Given the description of an element on the screen output the (x, y) to click on. 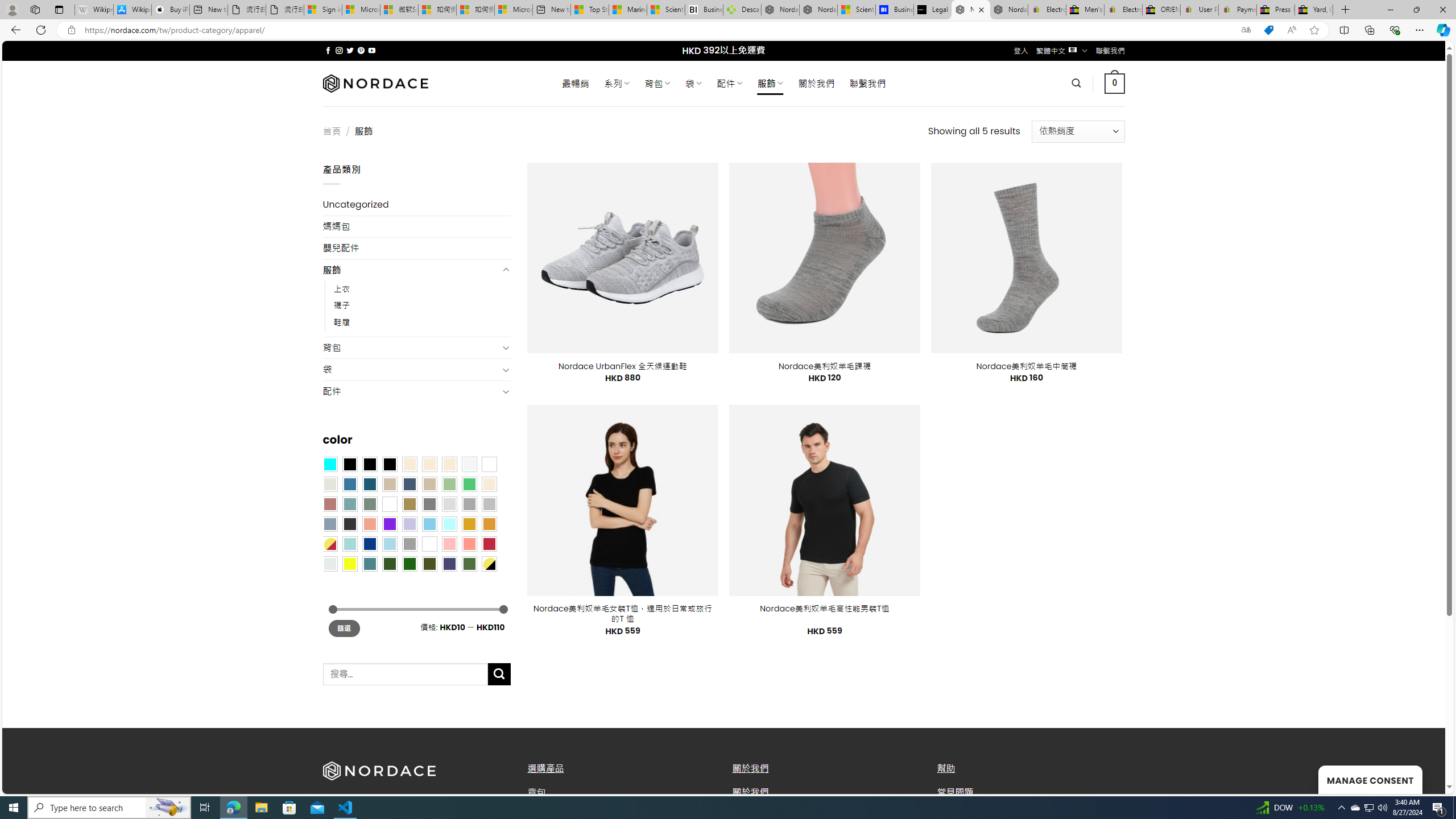
Cream (449, 464)
Uncategorized (416, 204)
